Given the description of an element on the screen output the (x, y) to click on. 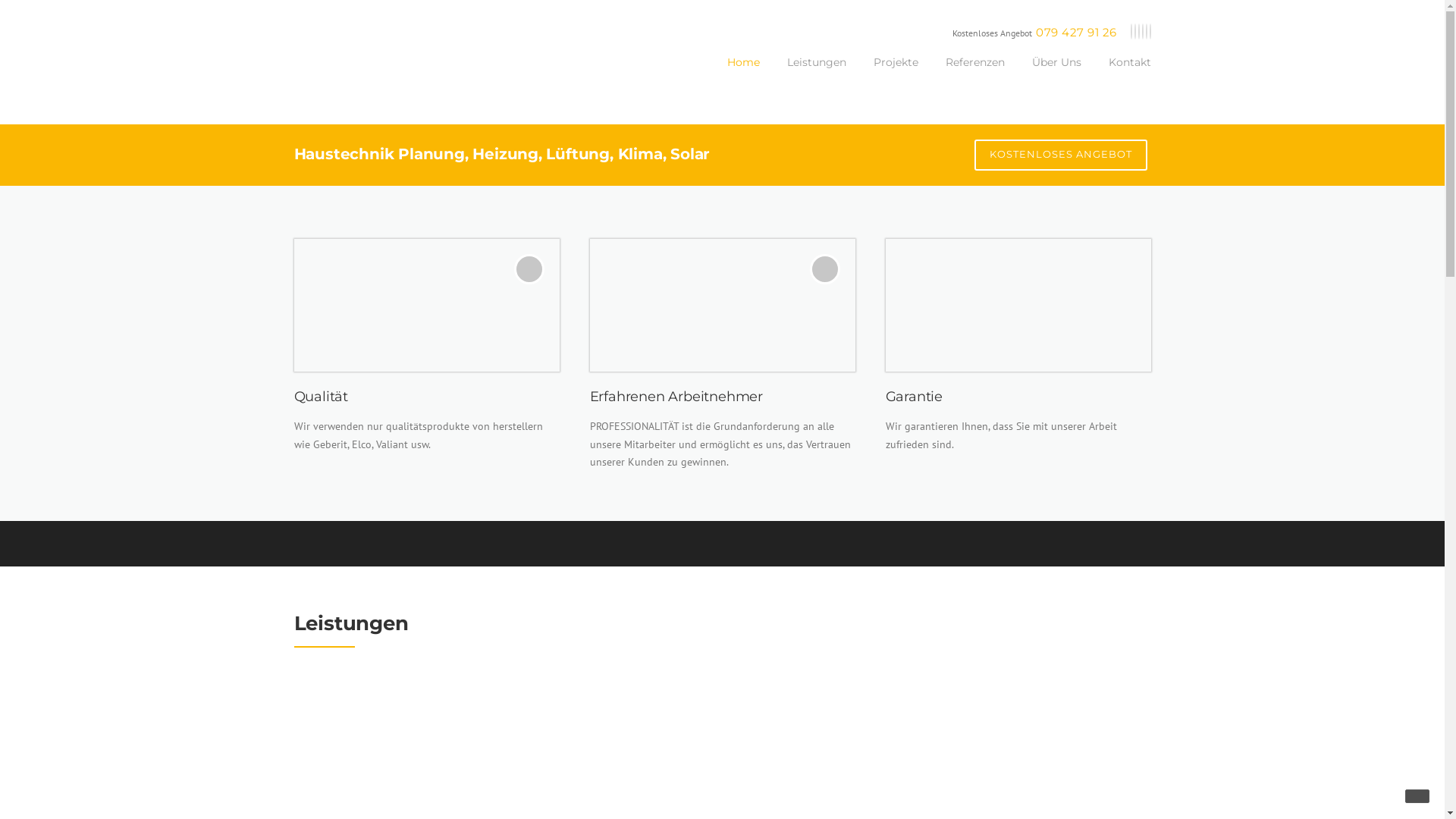
Leistungen Element type: text (816, 73)
Haustechnik Planung Element type: hover (1018, 741)
KOSTENLOSES ANGEBOT Element type: text (1059, 154)
Kontakt Element type: text (1123, 73)
Referenzen Element type: text (974, 73)
Projekte Element type: text (895, 73)
Instandhaltung und Reparatur Element type: hover (722, 741)
Google Plus Element type: hover (1142, 31)
Home Element type: text (742, 73)
BL Haustechnik GmbH Element type: hover (345, 44)
Pinterest Element type: hover (1138, 31)
079 427 91 26 Element type: text (1076, 32)
Linkedin Element type: hover (1134, 31)
Email Element type: hover (1150, 31)
Yelp Element type: hover (1145, 31)
Twitter Element type: hover (1130, 31)
